Given the description of an element on the screen output the (x, y) to click on. 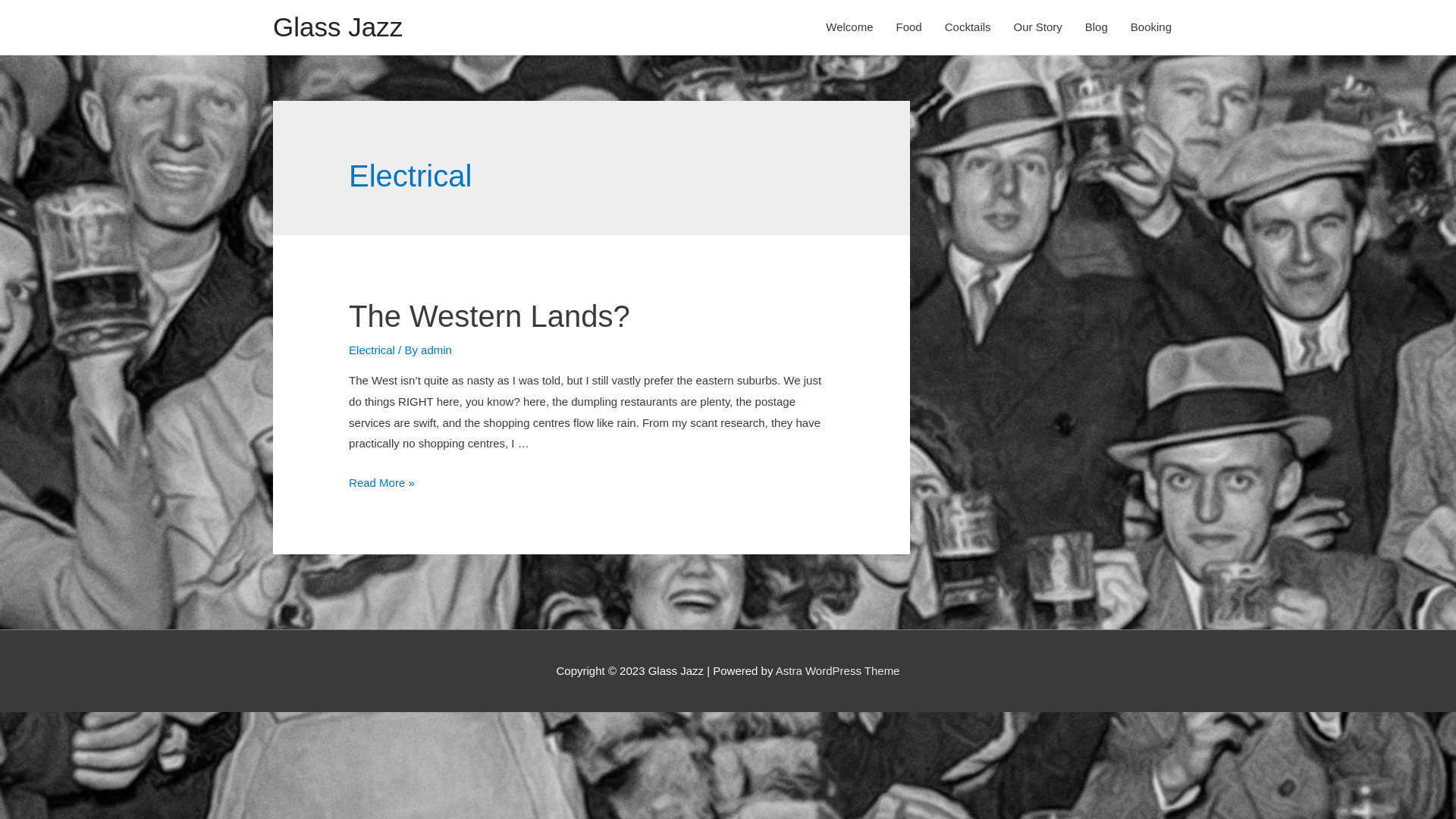
Electrical Element type: text (371, 349)
Welcome Element type: text (849, 27)
Glass Jazz Element type: text (337, 26)
Food Element type: text (908, 27)
admin Element type: text (435, 349)
Booking Element type: text (1151, 27)
Cocktails Element type: text (967, 27)
Our Story Element type: text (1037, 27)
Astra WordPress Theme Element type: text (837, 670)
The Western Lands? Element type: text (489, 315)
Blog Element type: text (1096, 27)
